Given the description of an element on the screen output the (x, y) to click on. 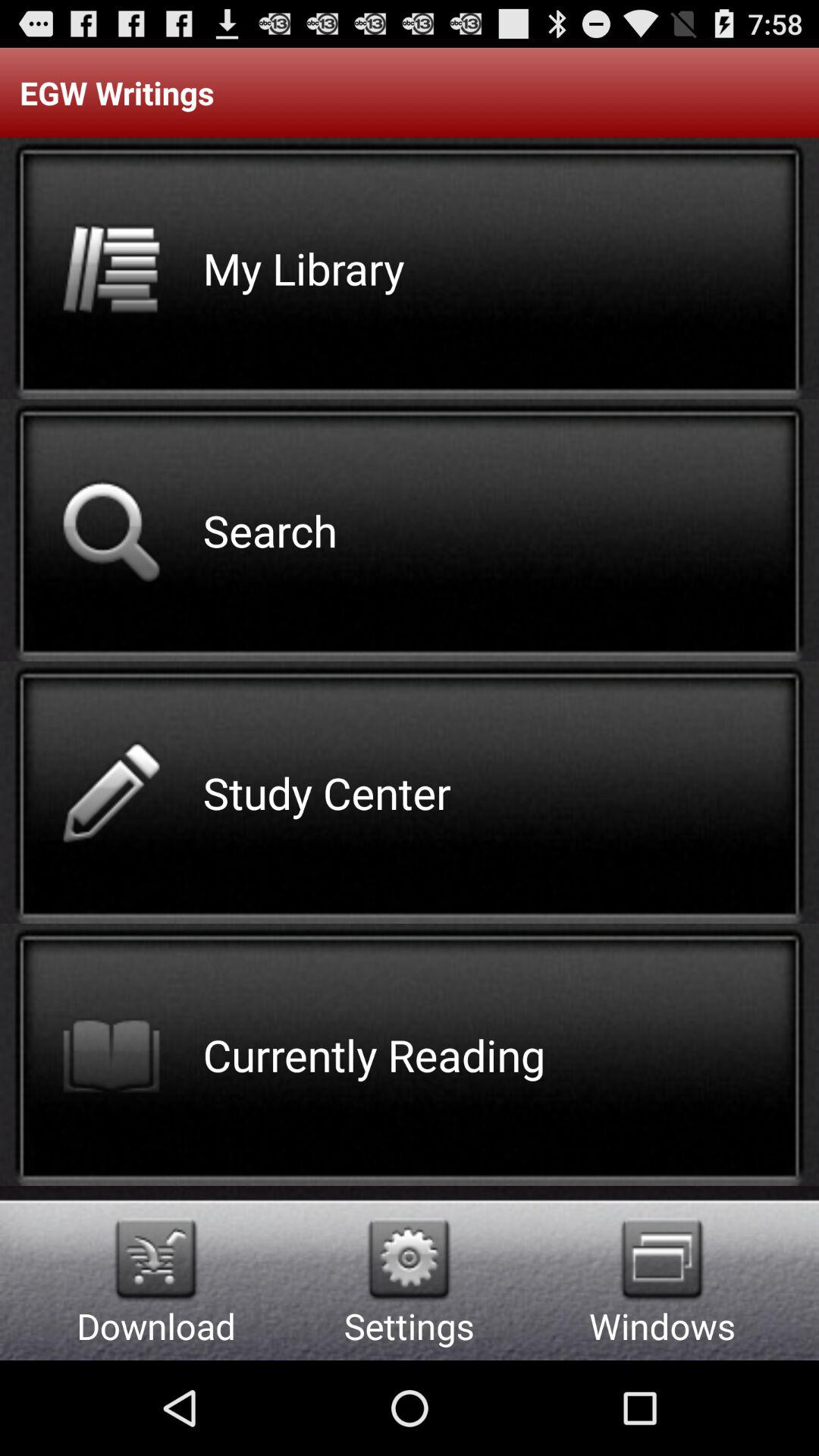
turn on app above settings (409, 1258)
